Given the description of an element on the screen output the (x, y) to click on. 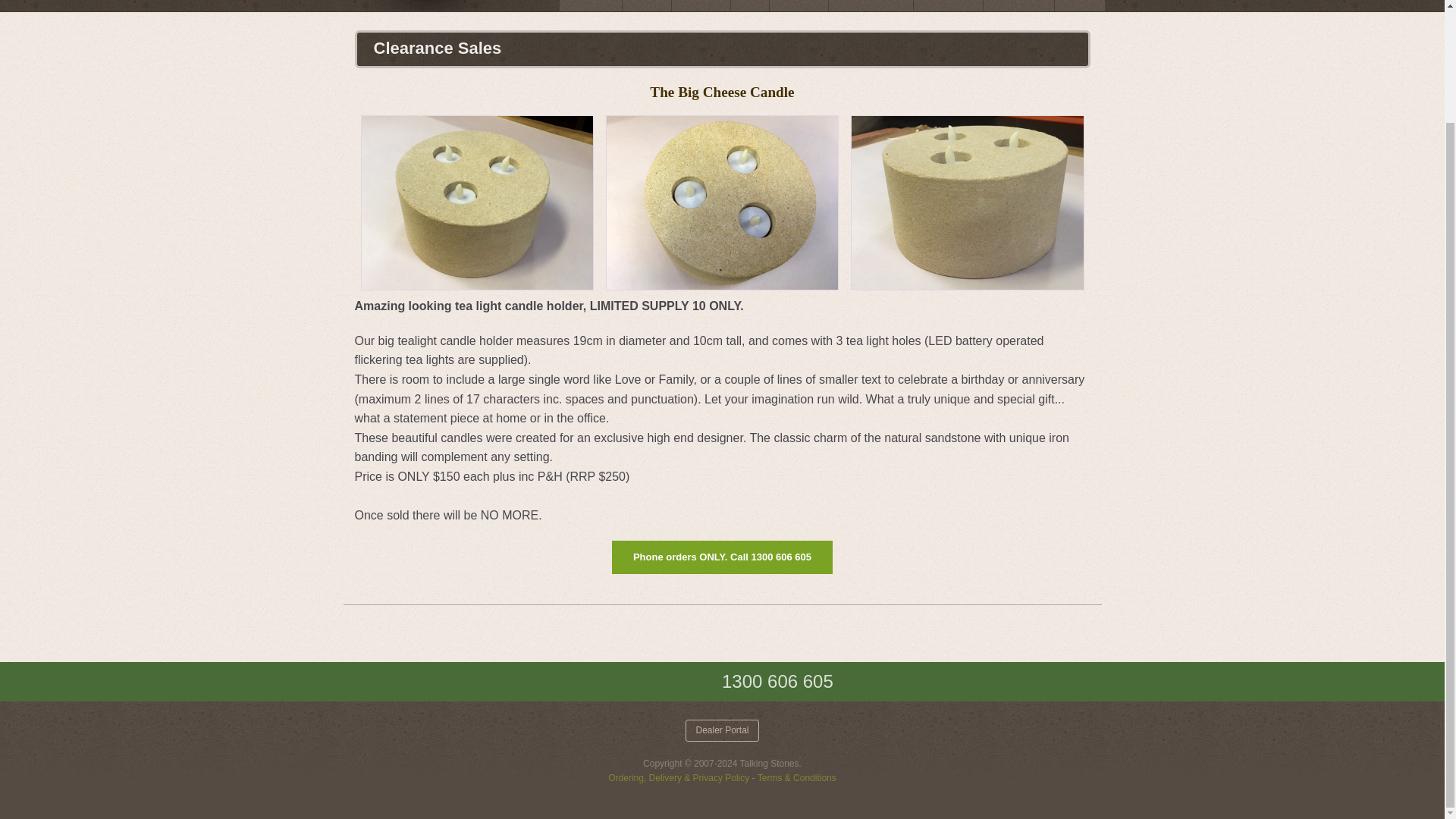
Dealer Portal (721, 730)
Our Story (798, 5)
Phone orders ONLY. Call 1300 606 605 (721, 557)
Testimonials (948, 5)
Corporate (700, 5)
Products (590, 5)
Blog (749, 5)
1300 606 605 (777, 681)
Contact (1078, 5)
Clearance Sale! (870, 5)
Gallery (647, 5)
Talking Stones (508, 5)
